Given the description of an element on the screen output the (x, y) to click on. 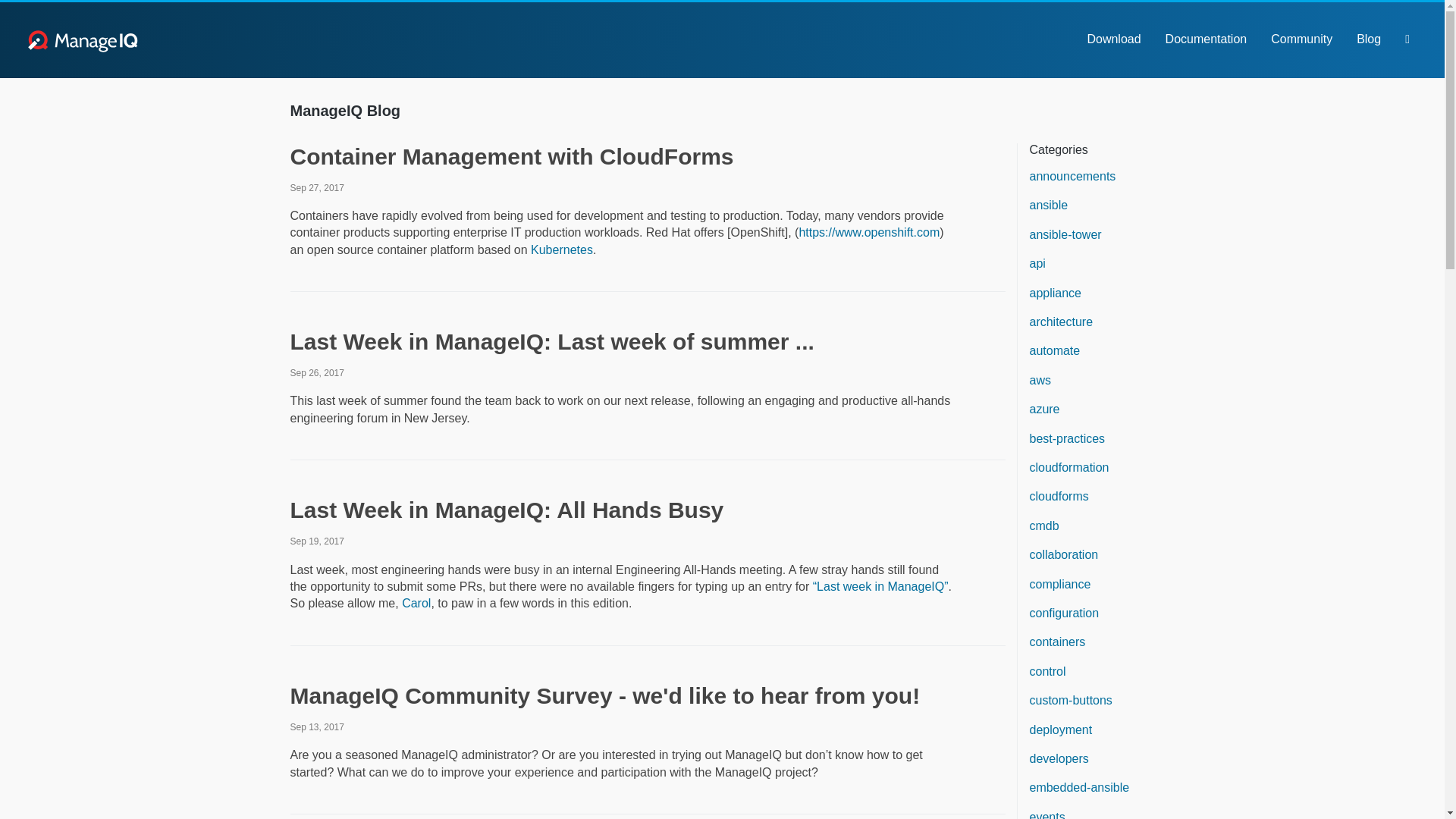
Last Week in ManageIQ: Last week of summer ... (551, 341)
Download (1113, 39)
ManageIQ Community Survey - we'd like to hear from you! (604, 695)
Community (1301, 39)
Last Week in ManageIQ: All Hands Busy (506, 509)
Blog (1368, 39)
Carol (415, 603)
Kubernetes (561, 249)
Documentation (1206, 39)
Container Management with CloudForms (511, 156)
